Given the description of an element on the screen output the (x, y) to click on. 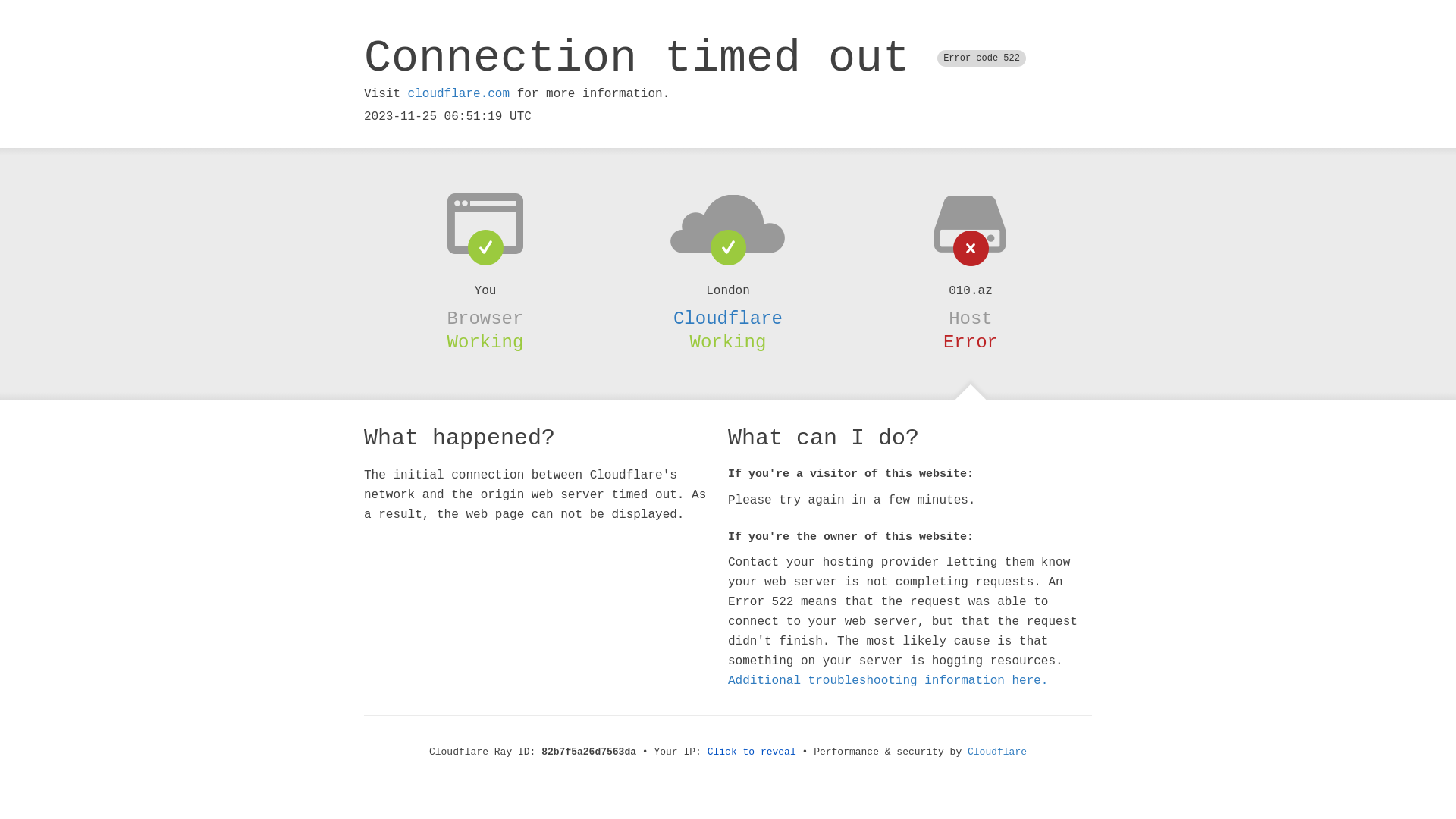
Cloudflare Element type: text (996, 751)
Cloudflare Element type: text (727, 318)
cloudflare.com Element type: text (458, 93)
Click to reveal Element type: text (751, 751)
Additional troubleshooting information here. Element type: text (888, 680)
